Given the description of an element on the screen output the (x, y) to click on. 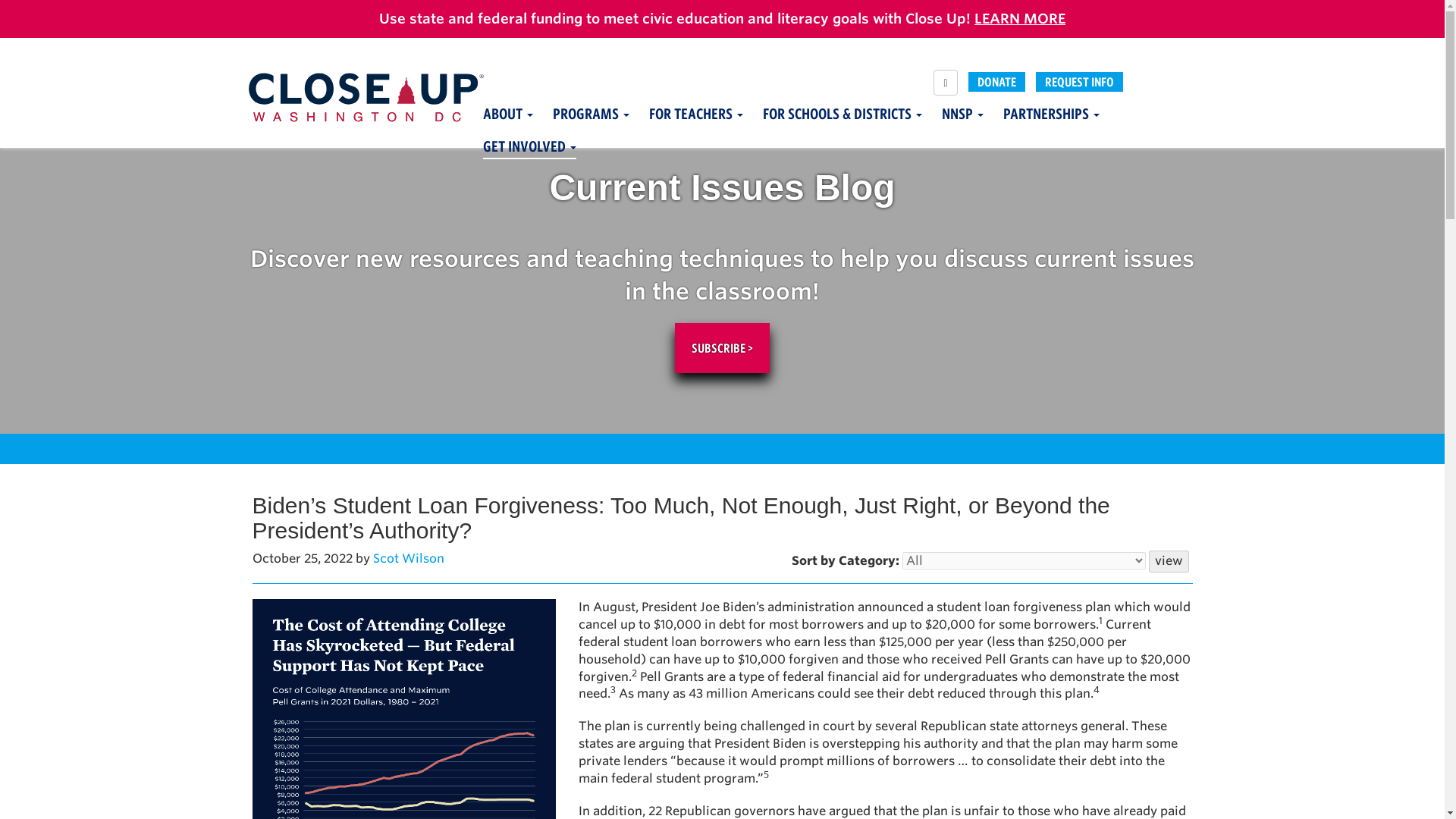
NNSP (963, 116)
REQUEST INFO (1078, 81)
FOR TEACHERS (695, 116)
DONATE (996, 81)
view (1168, 561)
ABOUT (506, 116)
PROGRAMS (589, 116)
PARTNERSHIPS (1051, 116)
LEARN MORE (1019, 18)
